Given the description of an element on the screen output the (x, y) to click on. 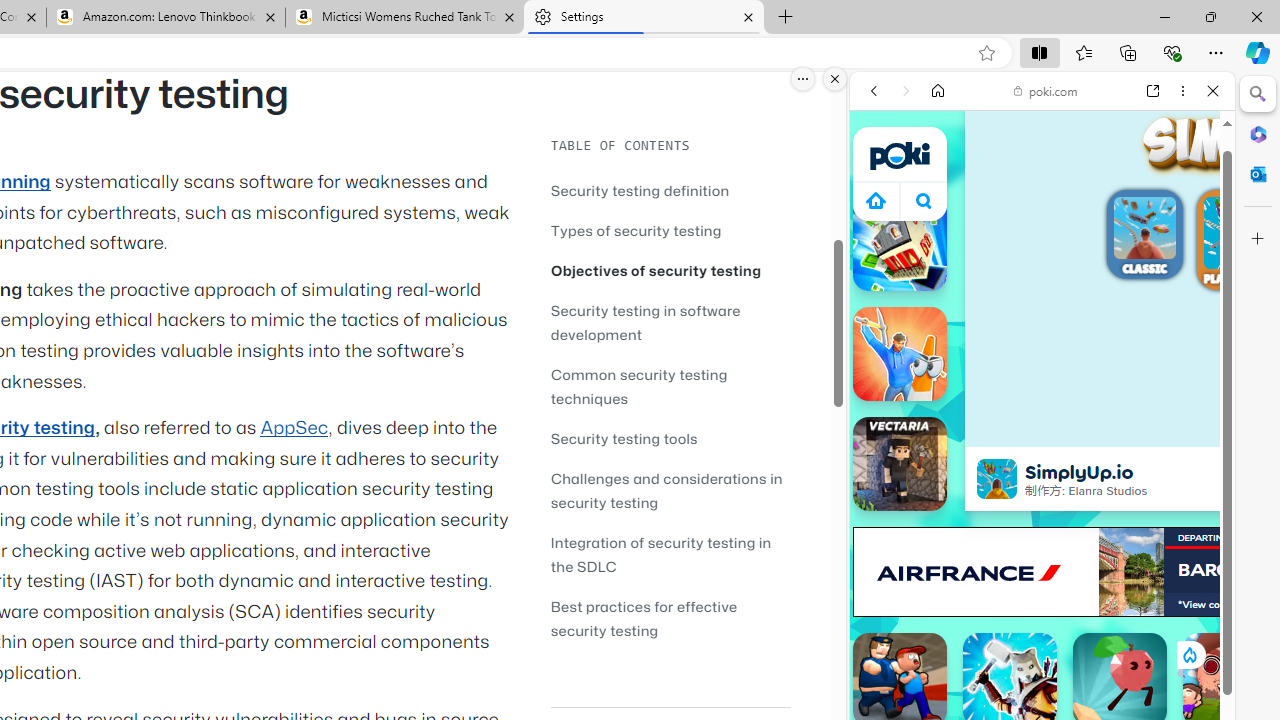
Simply Prop Hunt Simply Prop Hunt (899, 353)
